Given the description of an element on the screen output the (x, y) to click on. 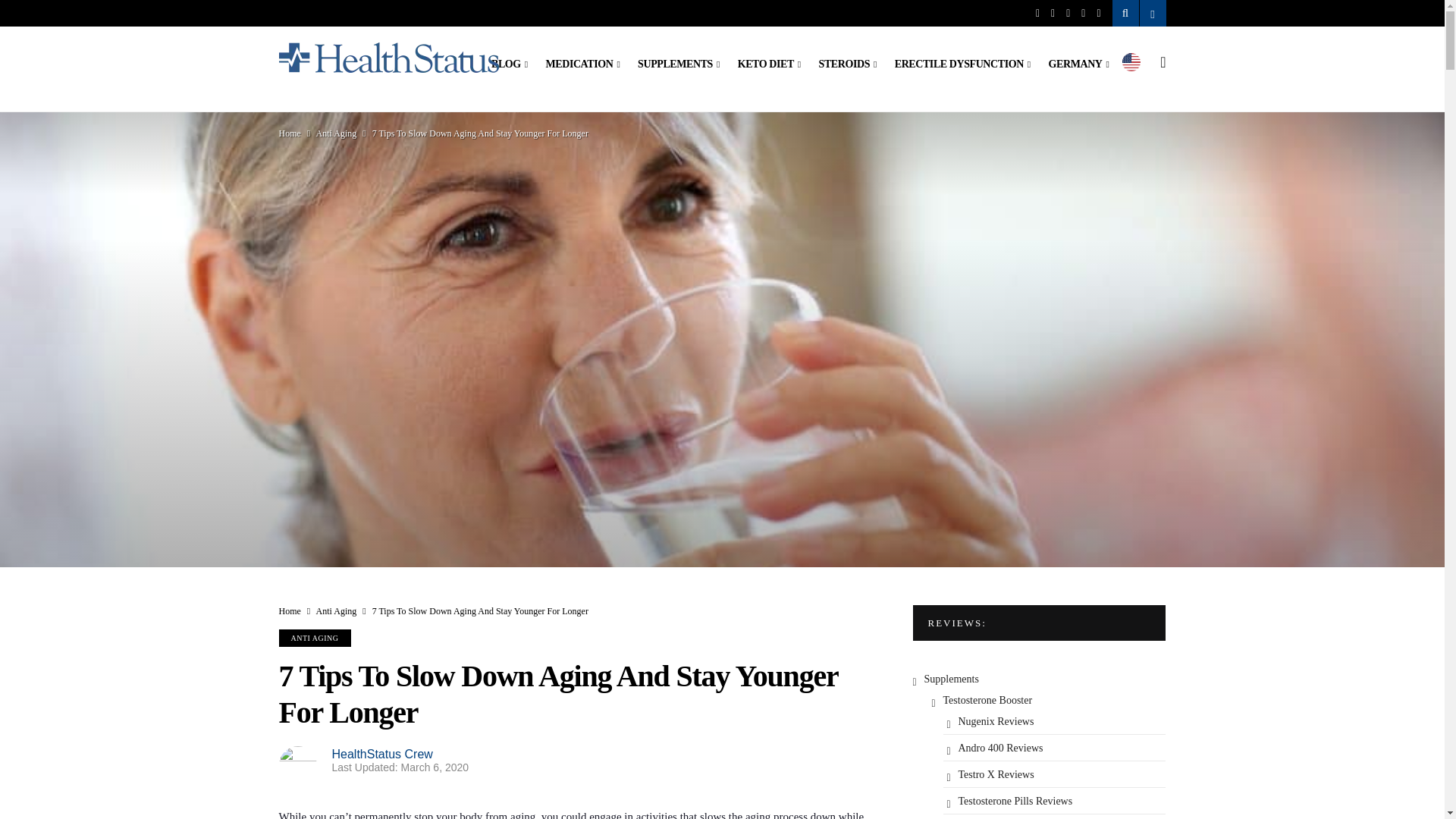
Posts by HealthStatus Crew (381, 753)
MEDICATION (582, 64)
